Given the description of an element on the screen output the (x, y) to click on. 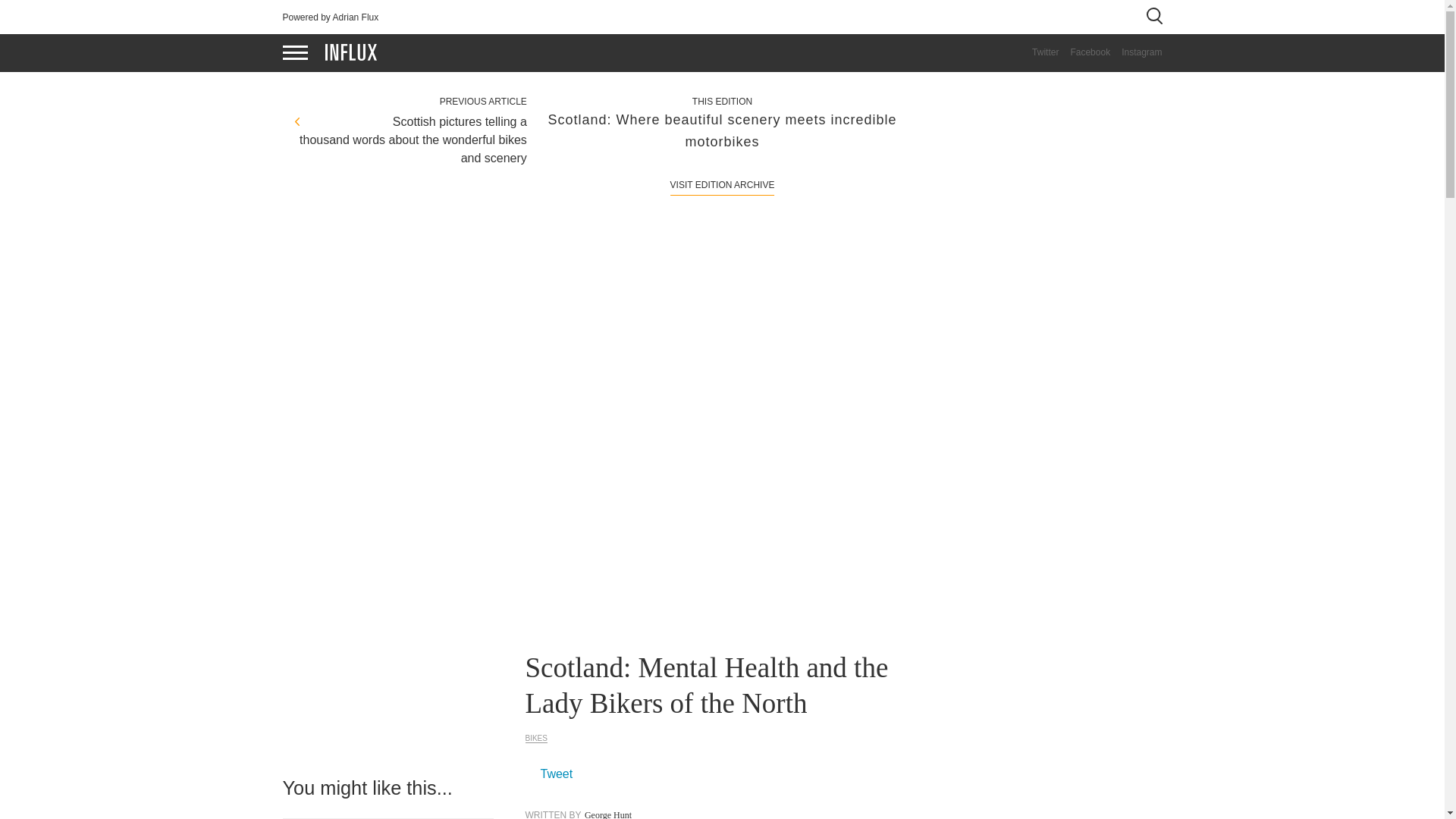
Powered by Adrian Flux (330, 17)
Tweet (556, 773)
Instagram (1135, 51)
Twitter (1039, 51)
VISIT EDITION ARCHIVE (721, 184)
Facebook (1083, 51)
BIKES (535, 737)
